Given the description of an element on the screen output the (x, y) to click on. 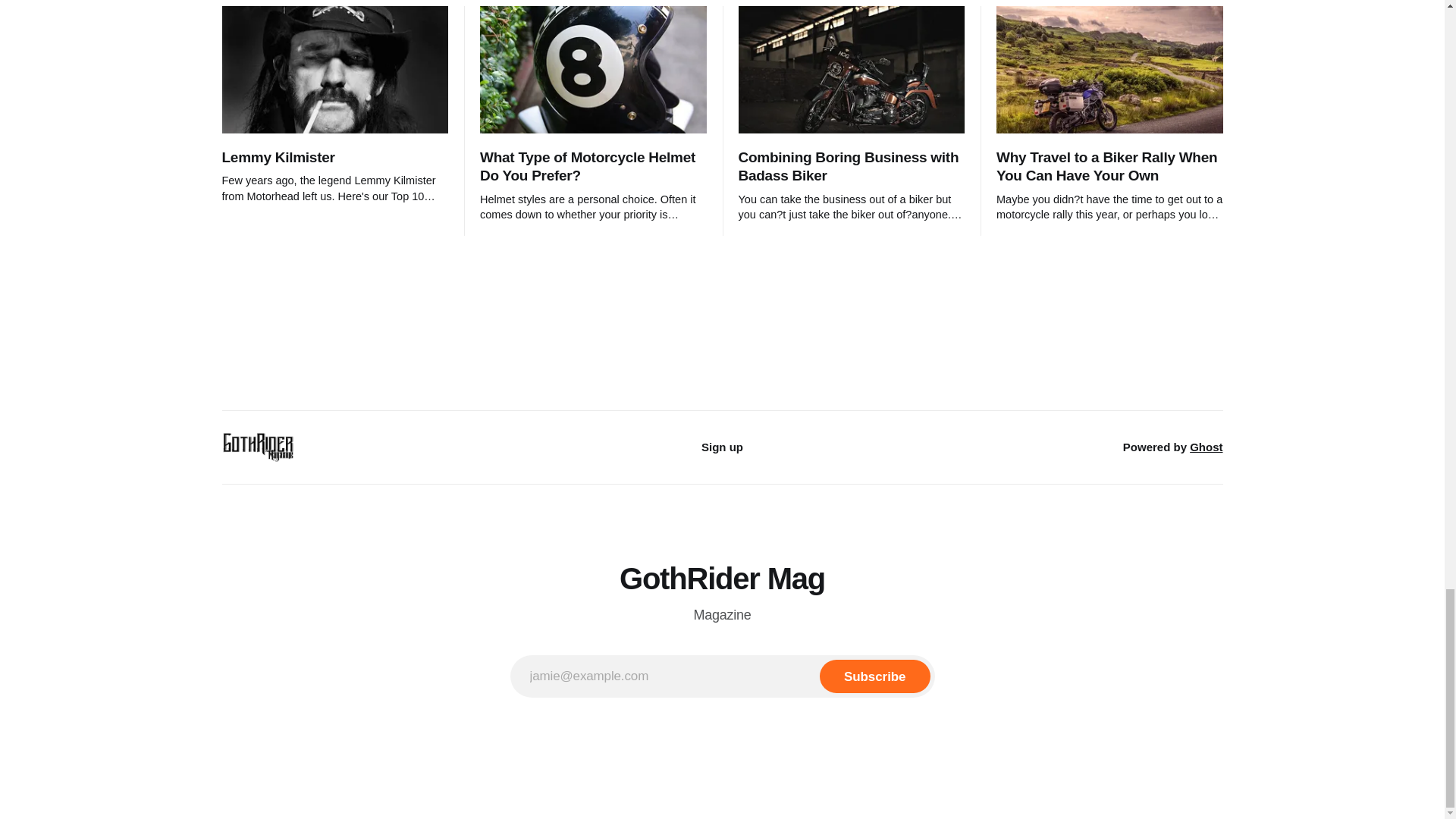
Ghost (1206, 446)
Subscribe (874, 676)
Sign up (721, 446)
